Given the description of an element on the screen output the (x, y) to click on. 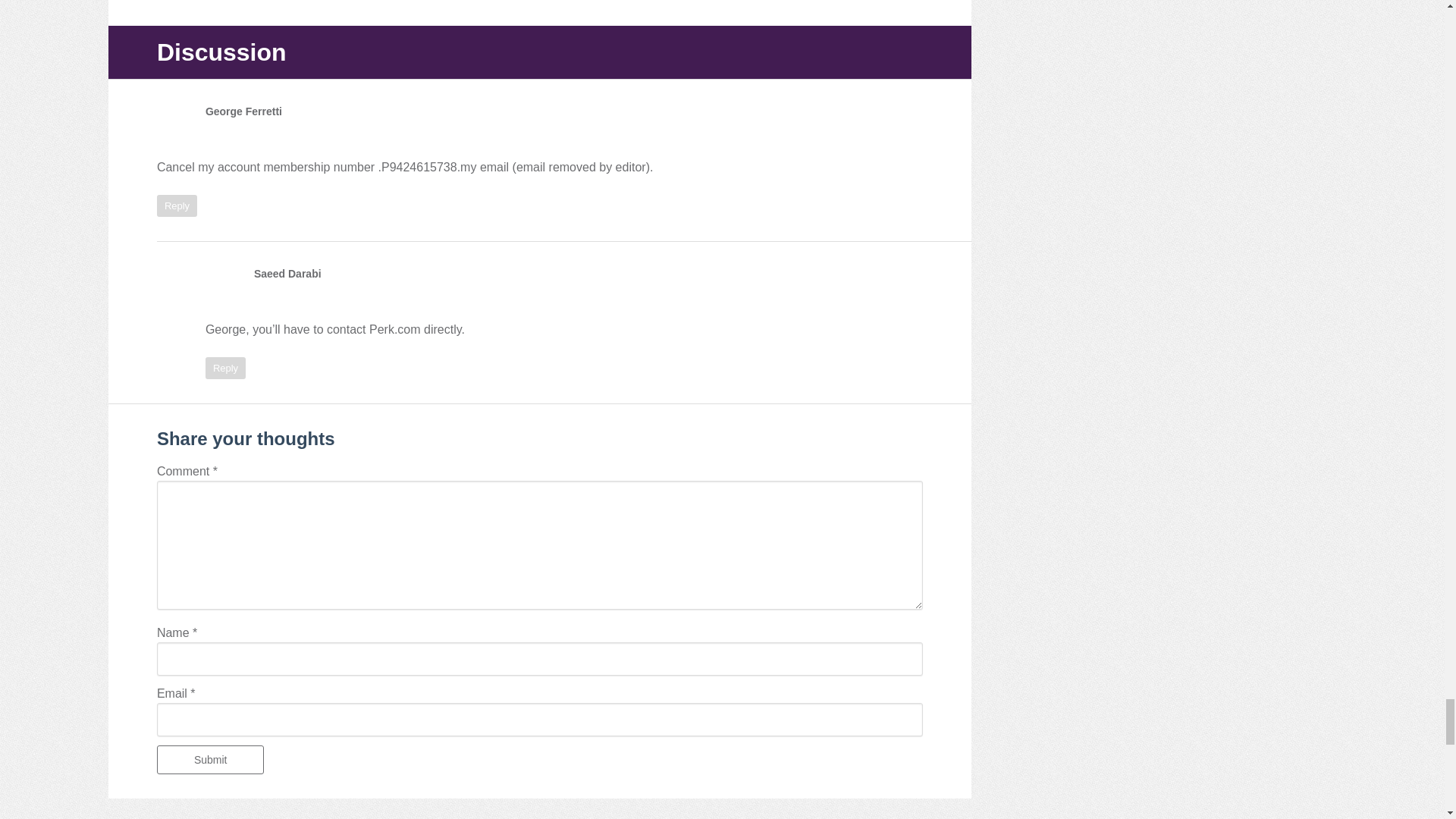
Submit (210, 759)
